Given the description of an element on the screen output the (x, y) to click on. 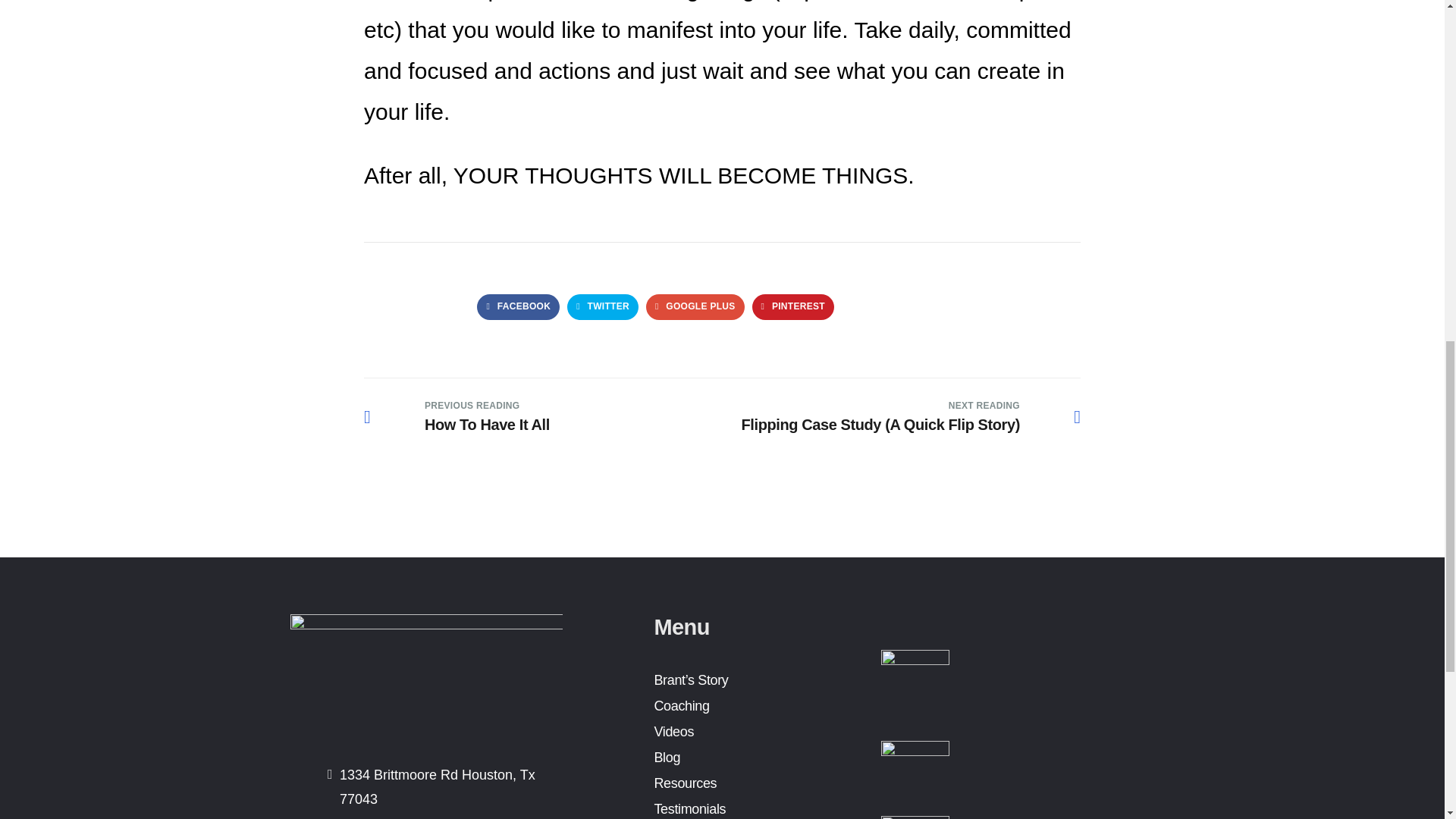
Pinterest (793, 307)
TWITTER (603, 307)
281-954-3483 (383, 815)
Twitter (457, 416)
PINTEREST (603, 307)
GOOGLE PLUS (793, 307)
Google Plus (695, 307)
Facebook (695, 307)
Coaching (518, 307)
FACEBOOK (681, 705)
